Given the description of an element on the screen output the (x, y) to click on. 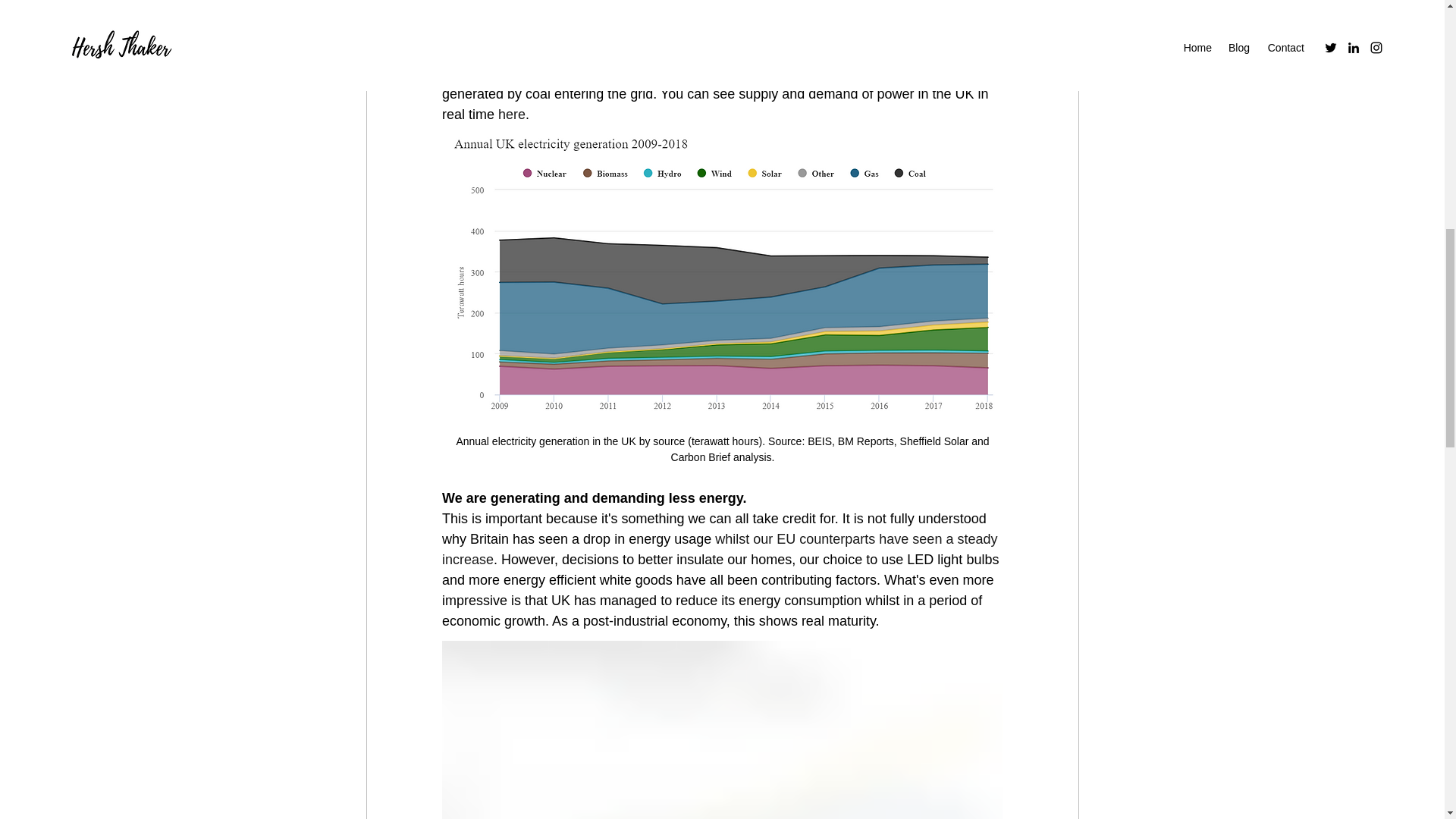
whilst our EU counterparts have seen a steady increase (720, 549)
here (511, 114)
